Given the description of an element on the screen output the (x, y) to click on. 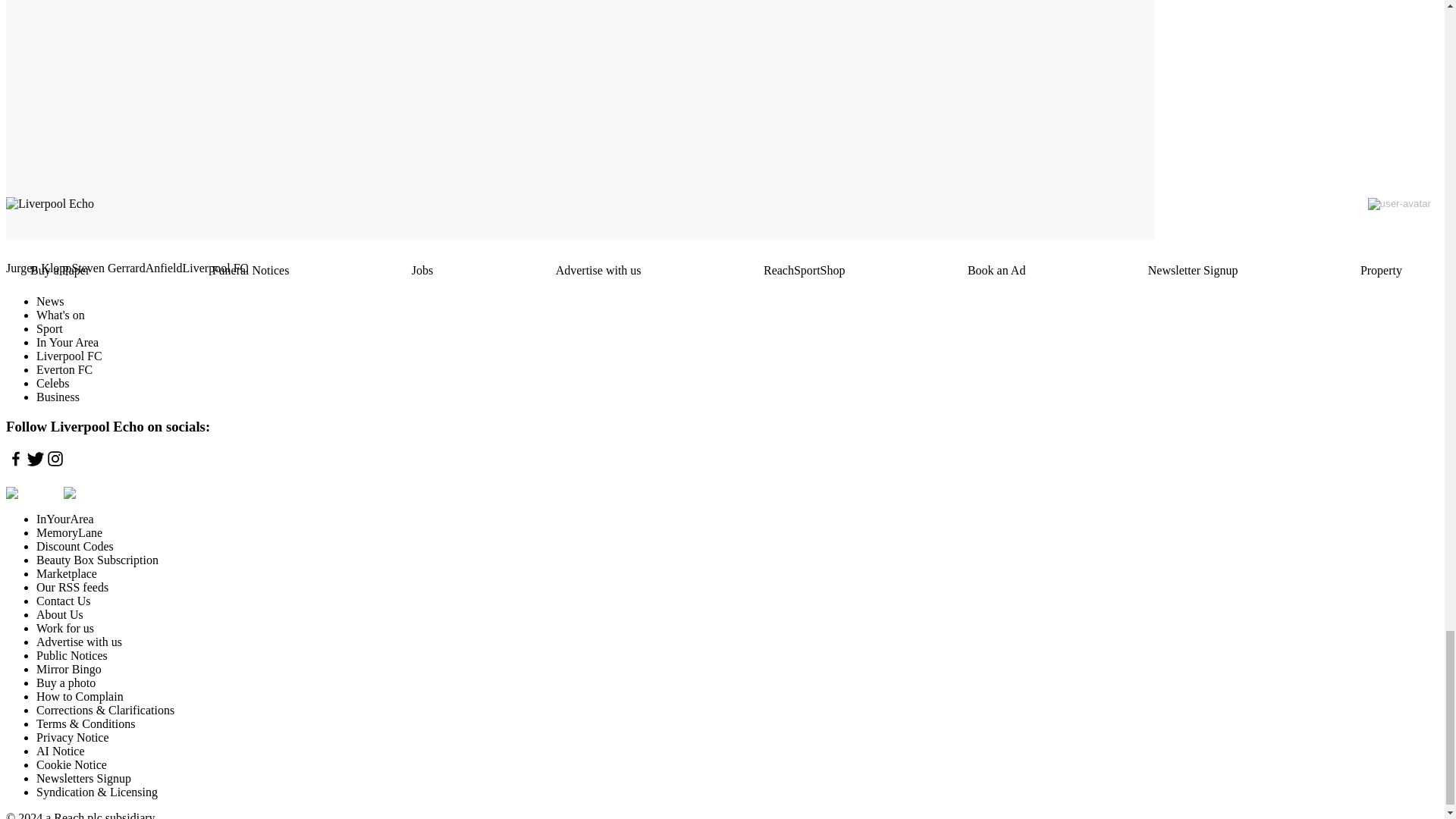
What's on (60, 314)
Jurgen Klopp (38, 268)
Liverpool FC (215, 268)
News (50, 300)
Steven Gerrard (107, 268)
Anfield (164, 268)
